Given the description of an element on the screen output the (x, y) to click on. 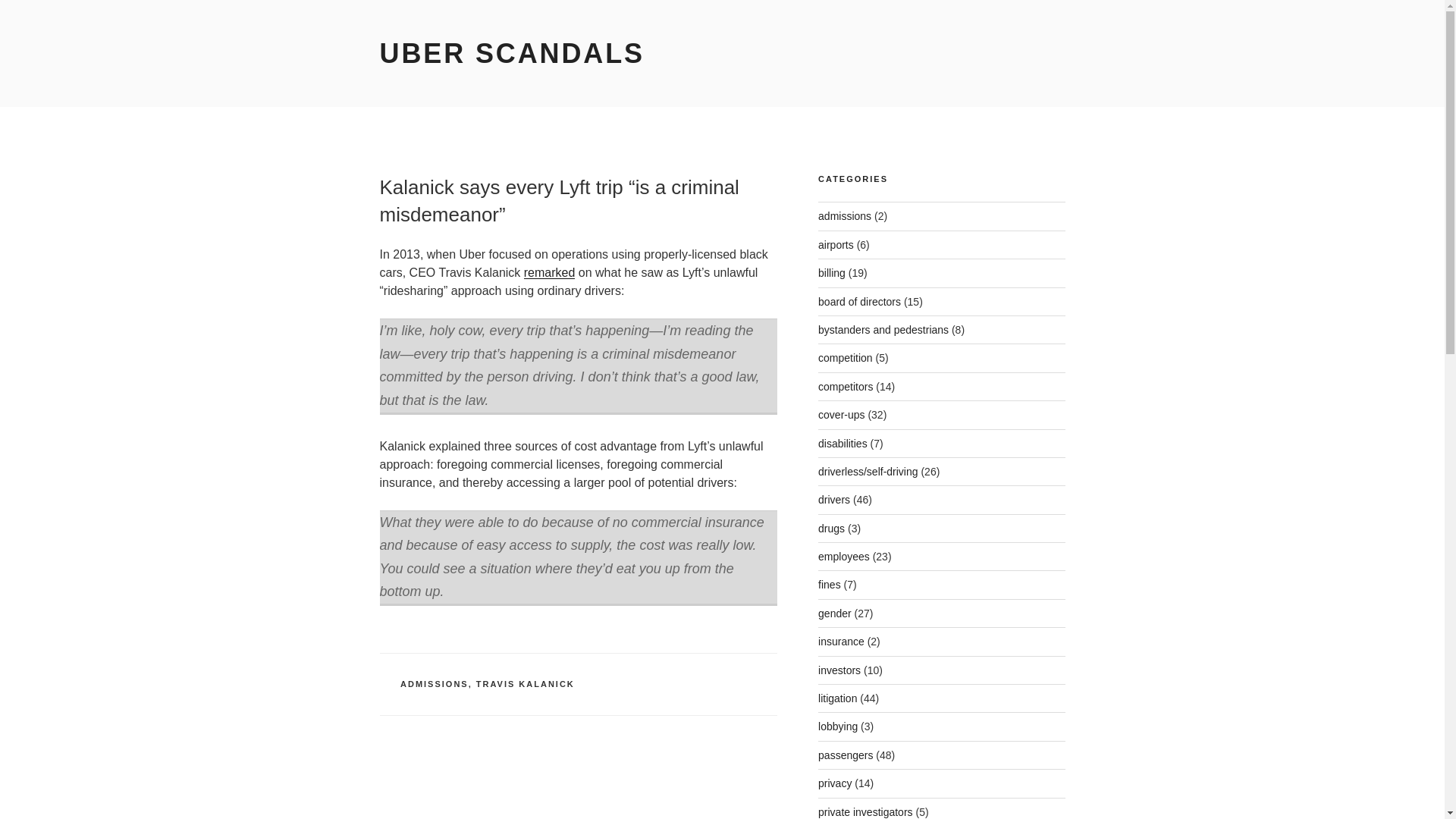
board of directors (859, 301)
cover-ups (841, 414)
gender (834, 613)
privacy (834, 783)
airports (835, 244)
competition (845, 357)
investors (839, 670)
bystanders and pedestrians (883, 329)
litigation (837, 698)
competitors (845, 386)
